Given the description of an element on the screen output the (x, y) to click on. 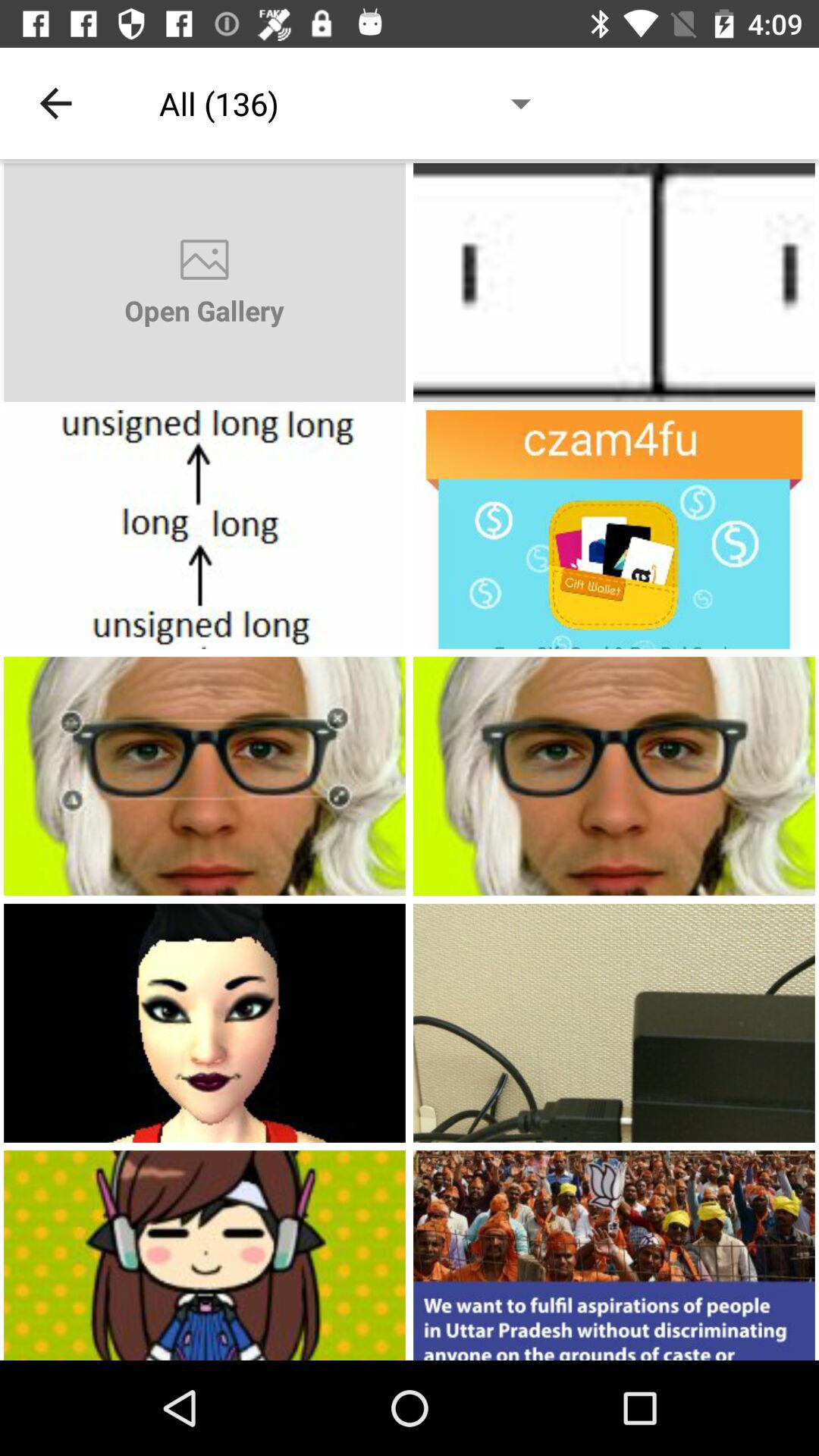
open the image (614, 529)
